Given the description of an element on the screen output the (x, y) to click on. 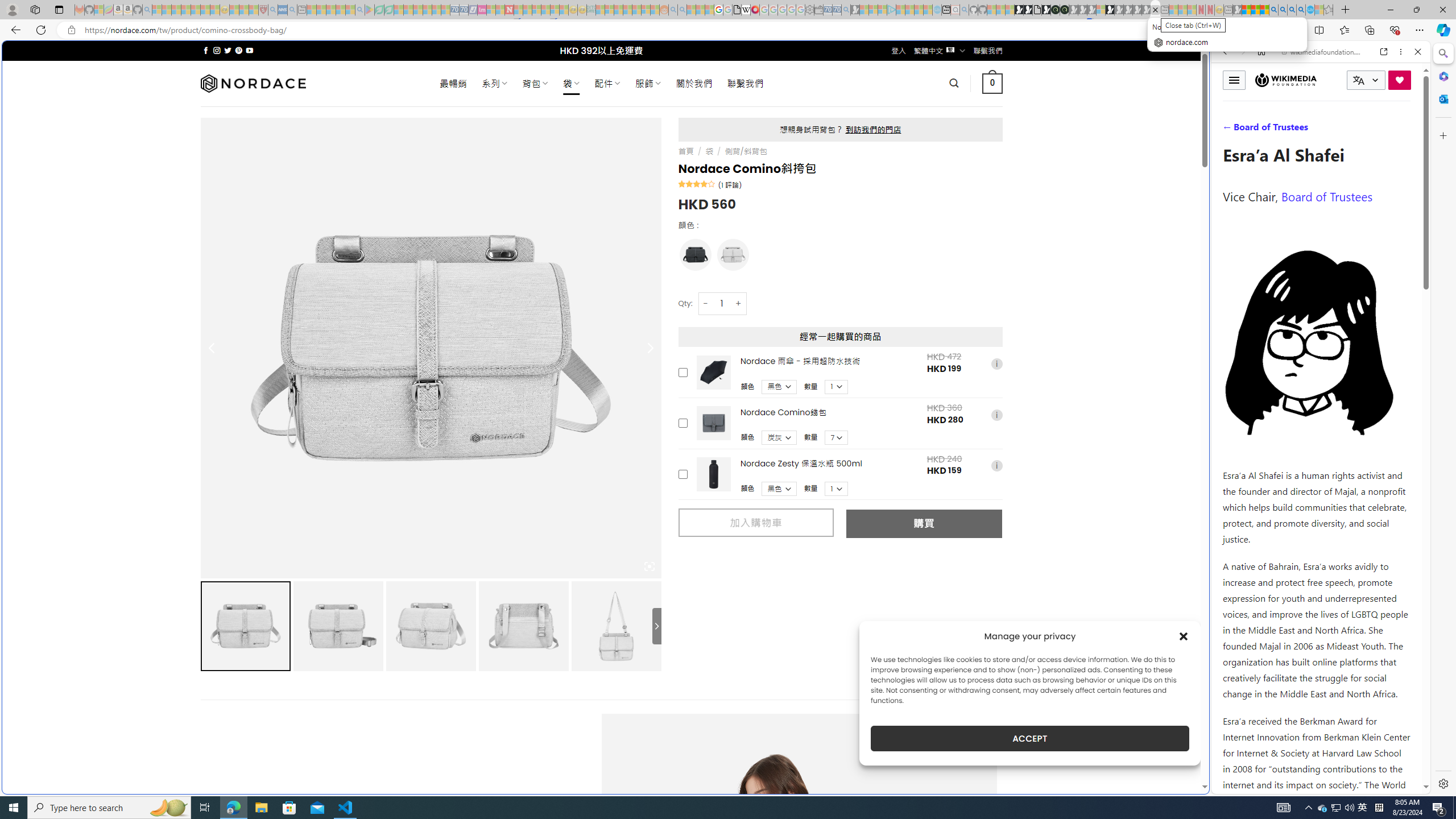
i (996, 465)
Side bar (1443, 418)
Settings and more (Alt+F) (1419, 29)
Nordace (252, 83)
+ (738, 303)
